Given the description of an element on the screen output the (x, y) to click on. 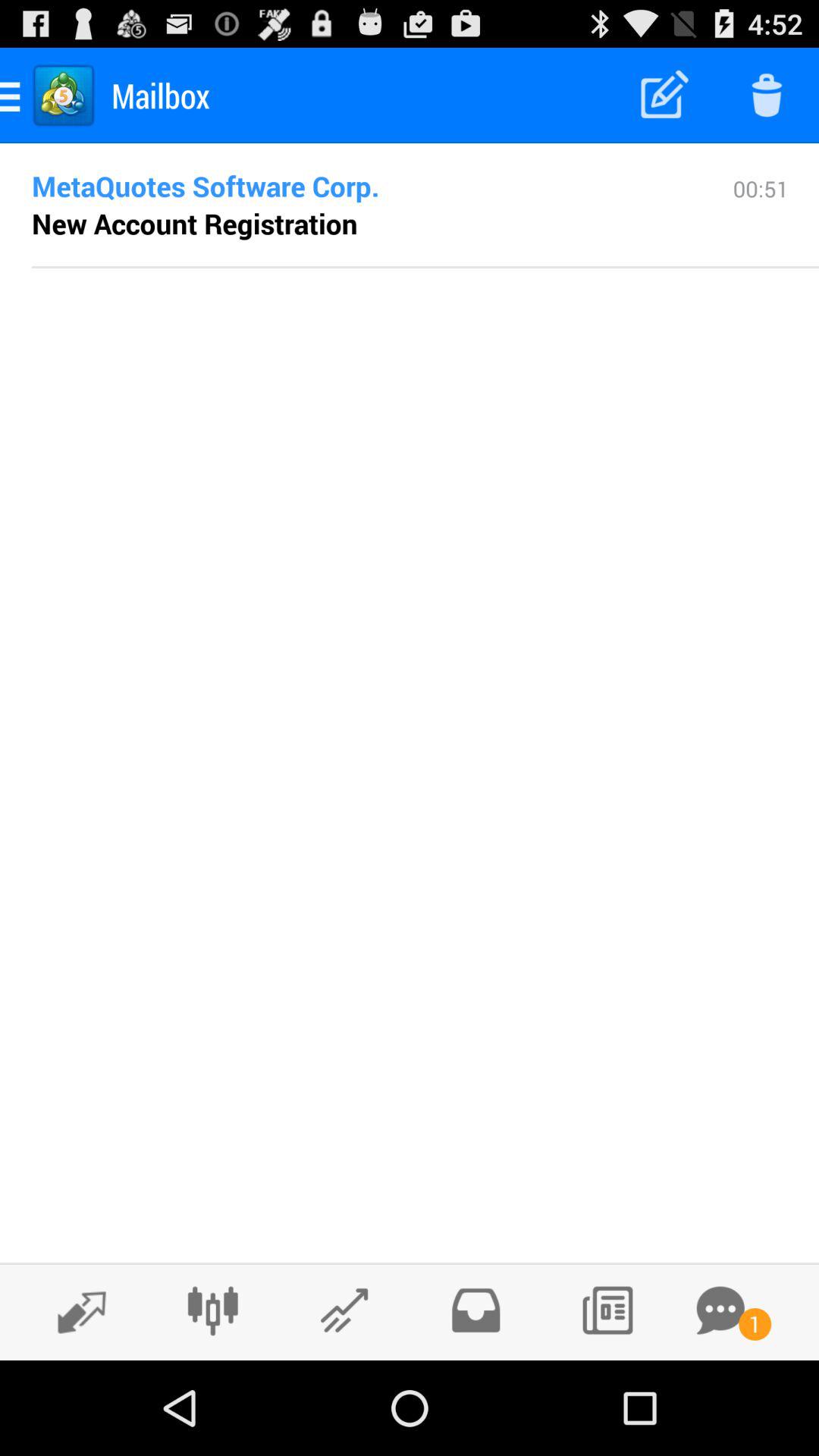
reply (73, 1311)
